Given the description of an element on the screen output the (x, y) to click on. 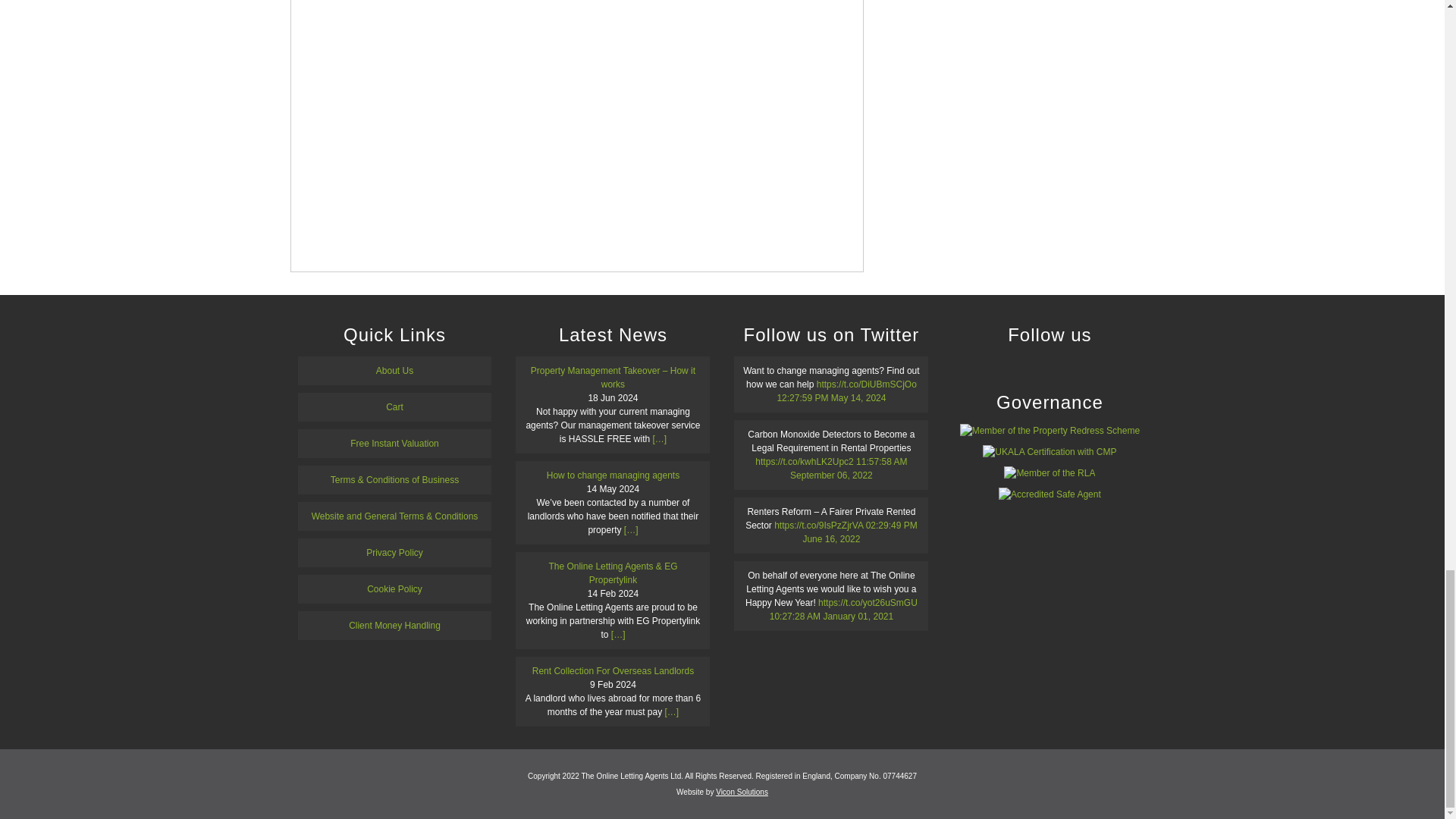
Cart (394, 407)
About Us (394, 370)
Continue reading How to change managing agents (631, 529)
Continue reading Rent Collection For Overseas Landlords (670, 711)
Free Instant Valuation (394, 443)
